Given the description of an element on the screen output the (x, y) to click on. 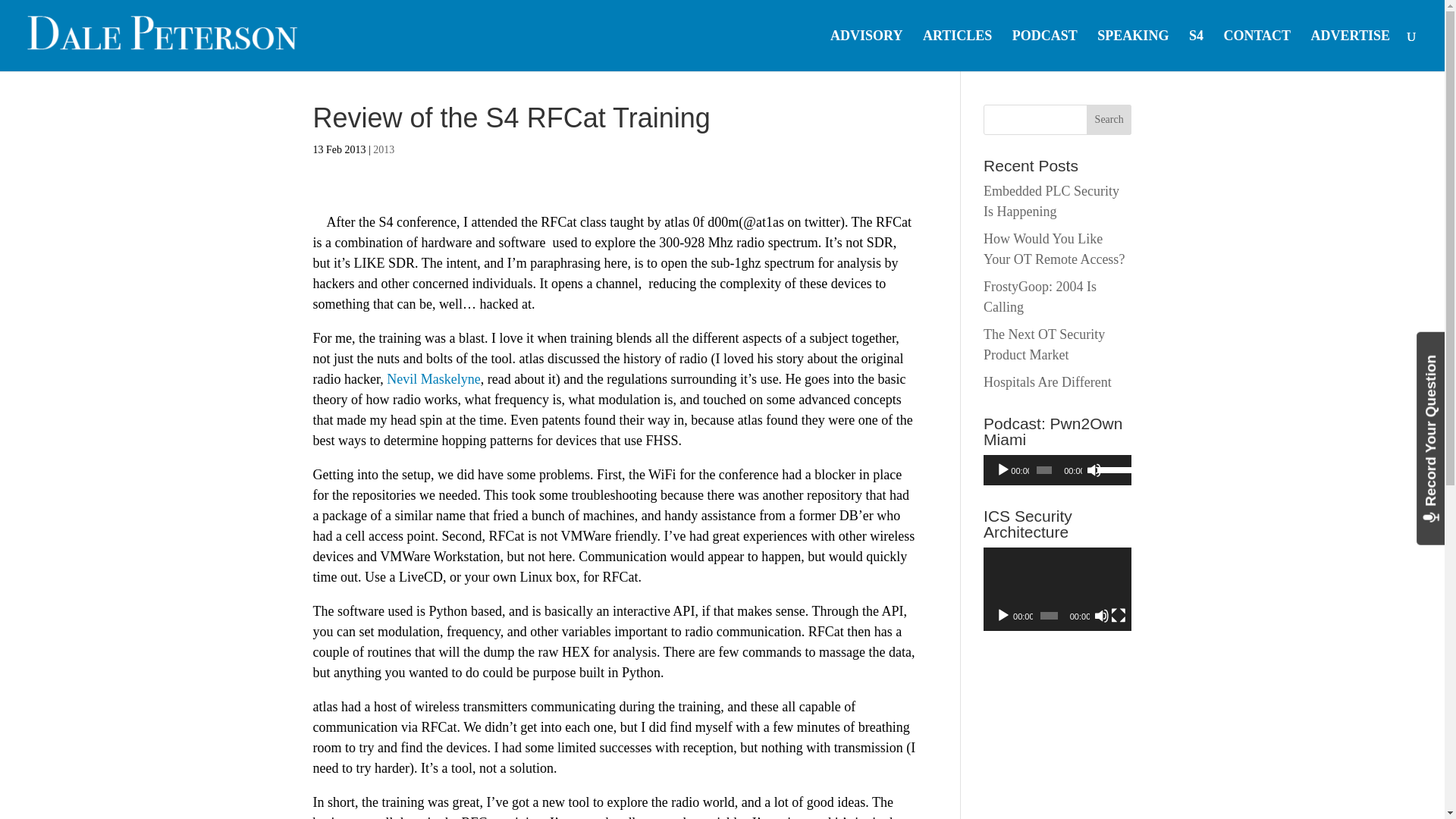
ARTICLES (957, 50)
ADVERTISE (1350, 50)
Play (1002, 469)
Mute (1101, 615)
Fullscreen (1117, 615)
Nevil Maskelyne (433, 378)
Search (1109, 119)
FrostyGoop: 2004 Is Calling (1040, 296)
PODCAST (1044, 50)
Mute (1094, 469)
